Given the description of an element on the screen output the (x, y) to click on. 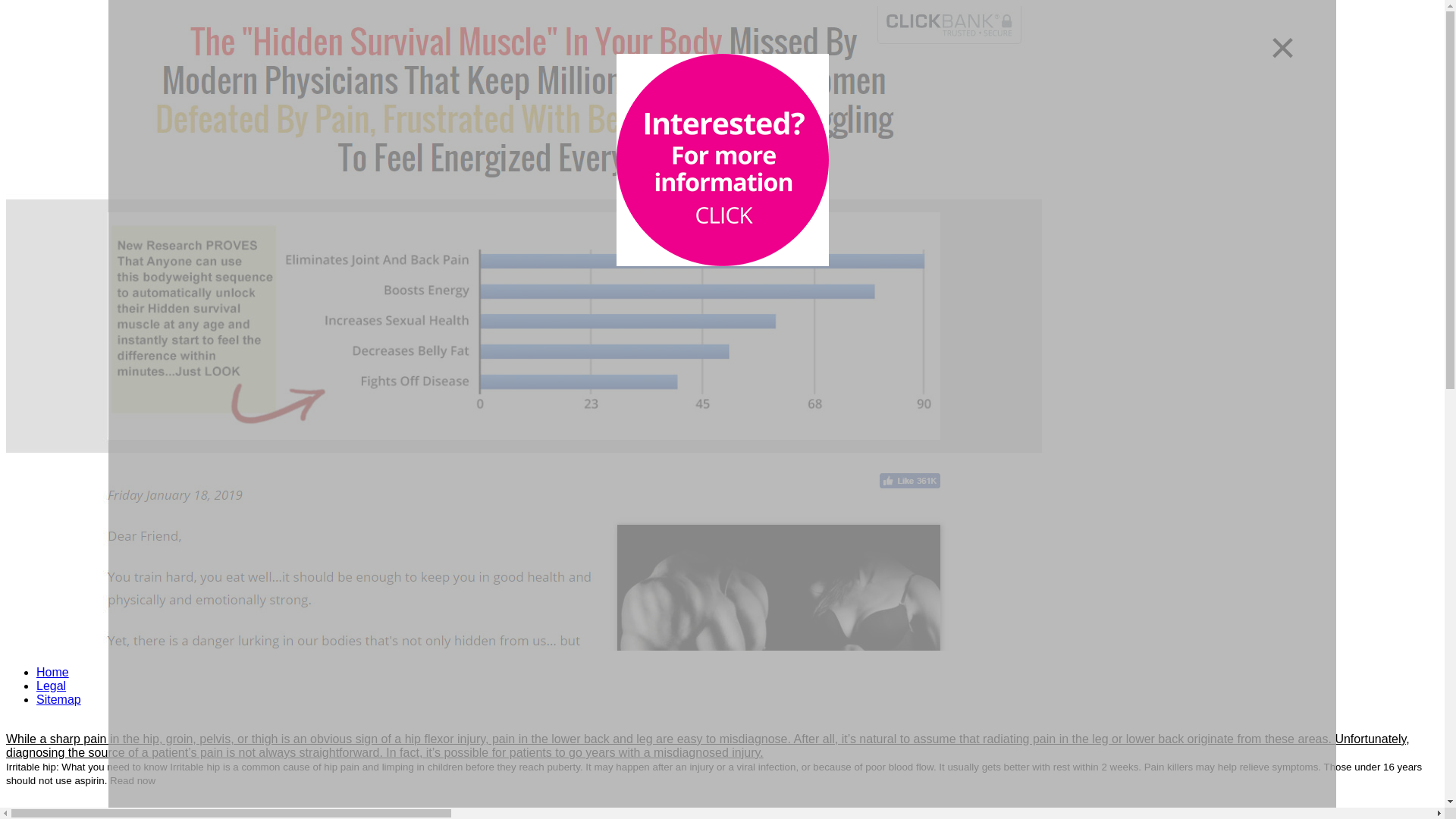
Sitemap (58, 698)
Legal (50, 685)
Home (52, 671)
